Given the description of an element on the screen output the (x, y) to click on. 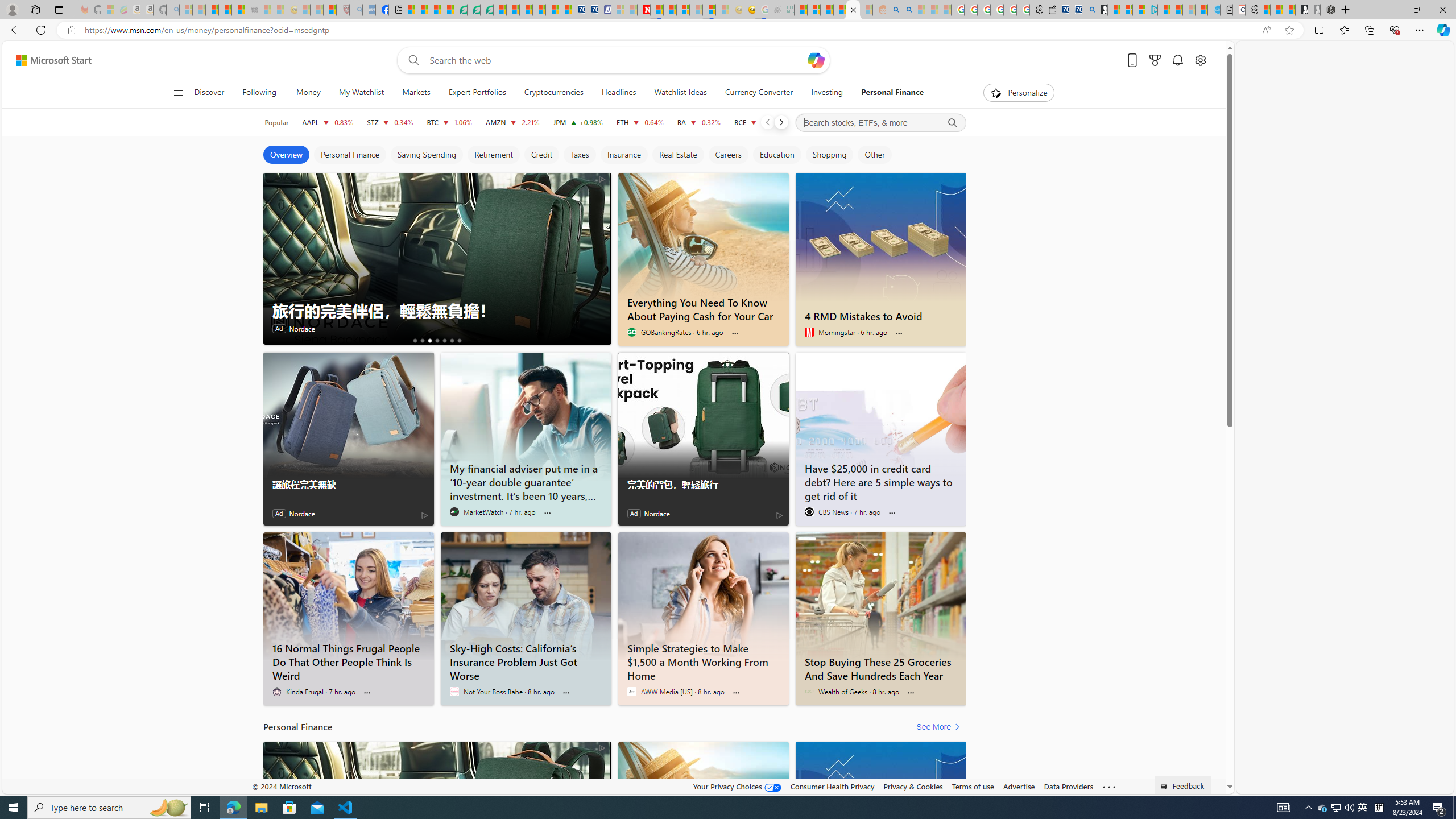
Data Providers (1068, 785)
Cryptocurrencies (553, 92)
Investing (826, 92)
Wealth of Geeks (808, 691)
Data Providers (1068, 786)
Terms of Use Agreement (473, 9)
Latest Politics News & Archive | Newsweek.com (643, 9)
